Given the description of an element on the screen output the (x, y) to click on. 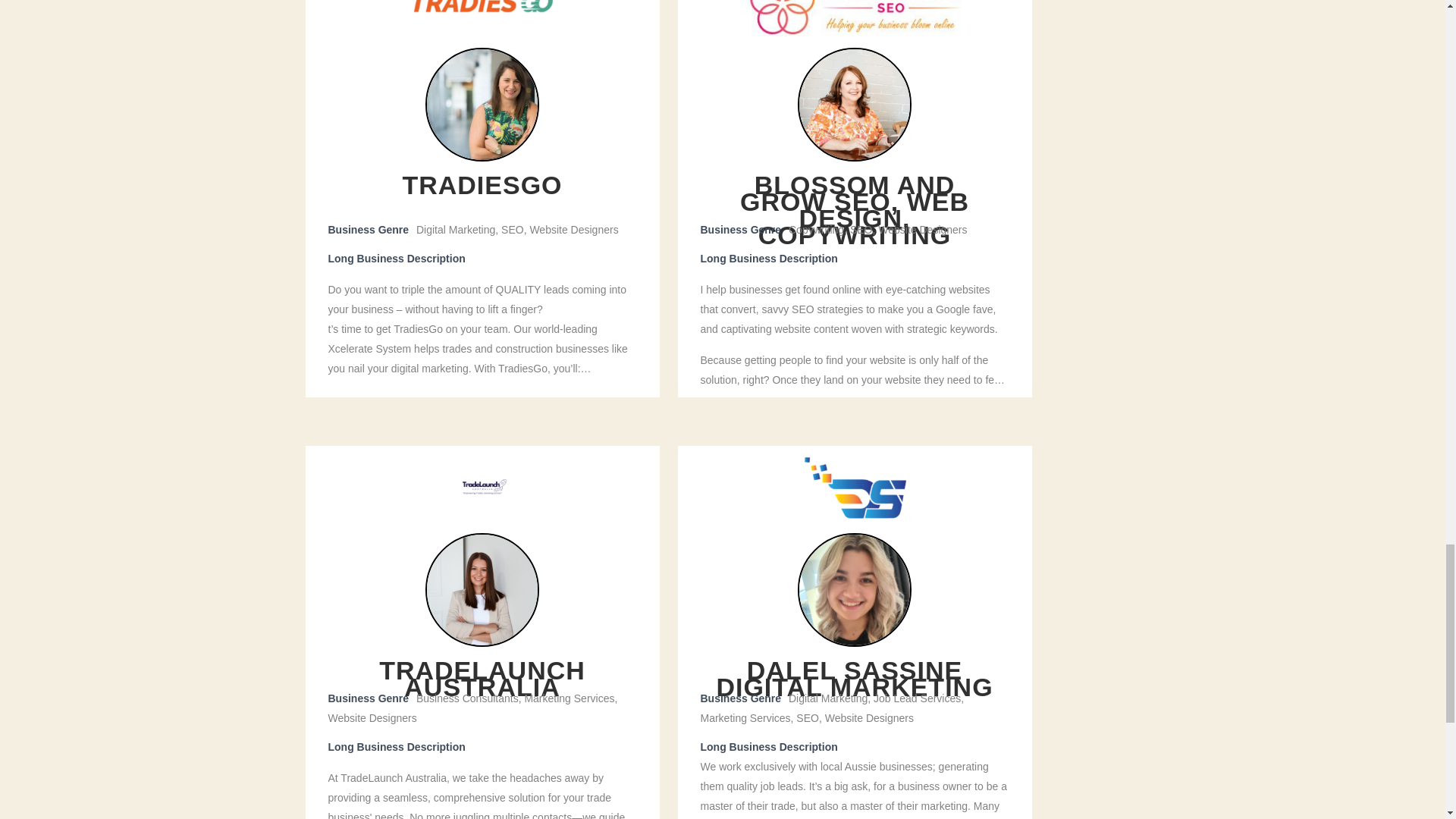
Blossom and Grow SEO, Web Design, Copywriting (854, 18)
TradiesGO (481, 18)
